Given the description of an element on the screen output the (x, y) to click on. 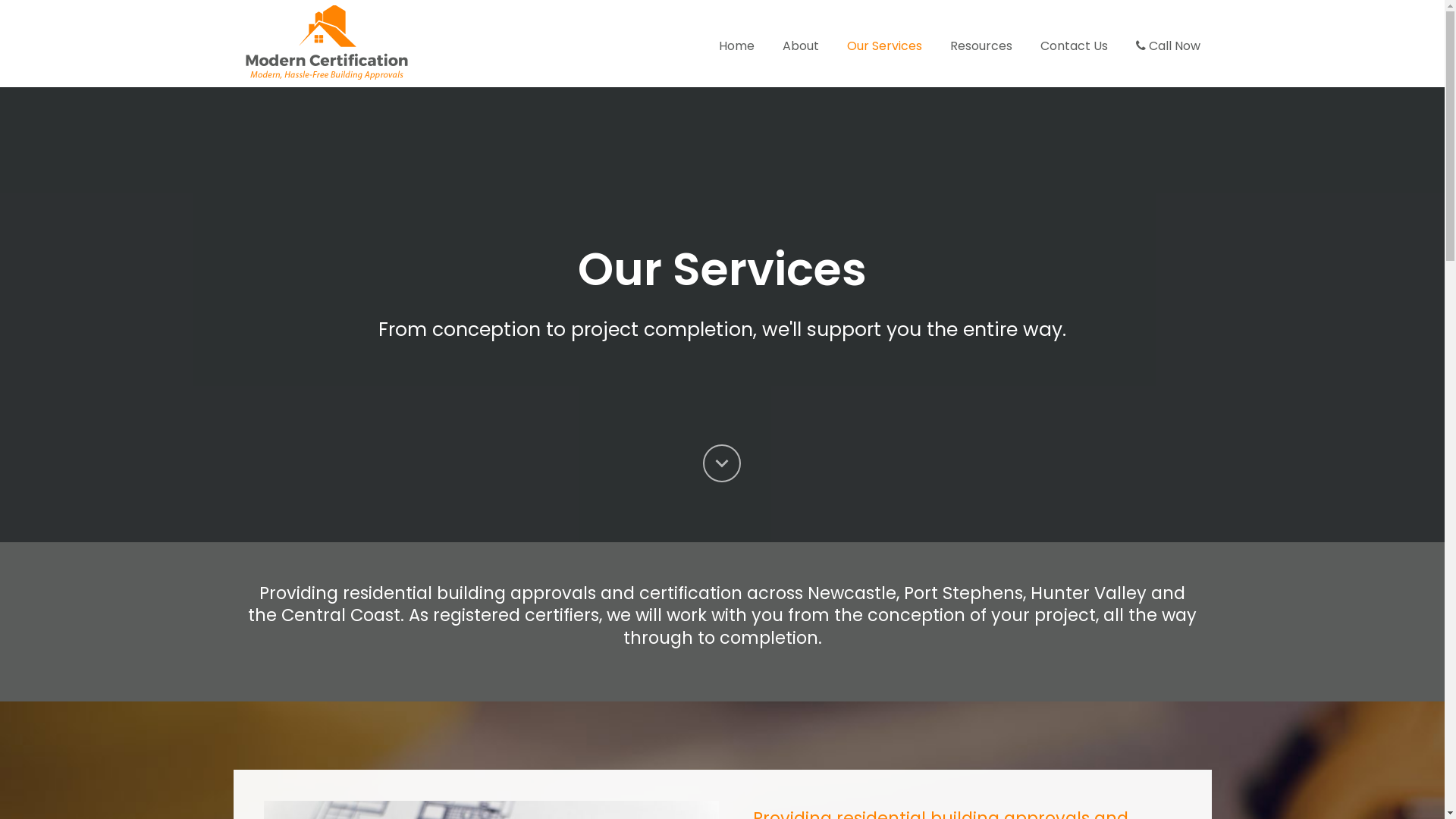
Call Now Element type: text (1167, 46)
Modern Certification | Residential Building Approvals Element type: text (325, 42)
Contact Us Element type: text (1074, 46)
About Element type: text (800, 46)
Resources Element type: text (980, 46)
Home Element type: text (736, 46)
Our Services Element type: text (883, 46)
